Given the description of an element on the screen output the (x, y) to click on. 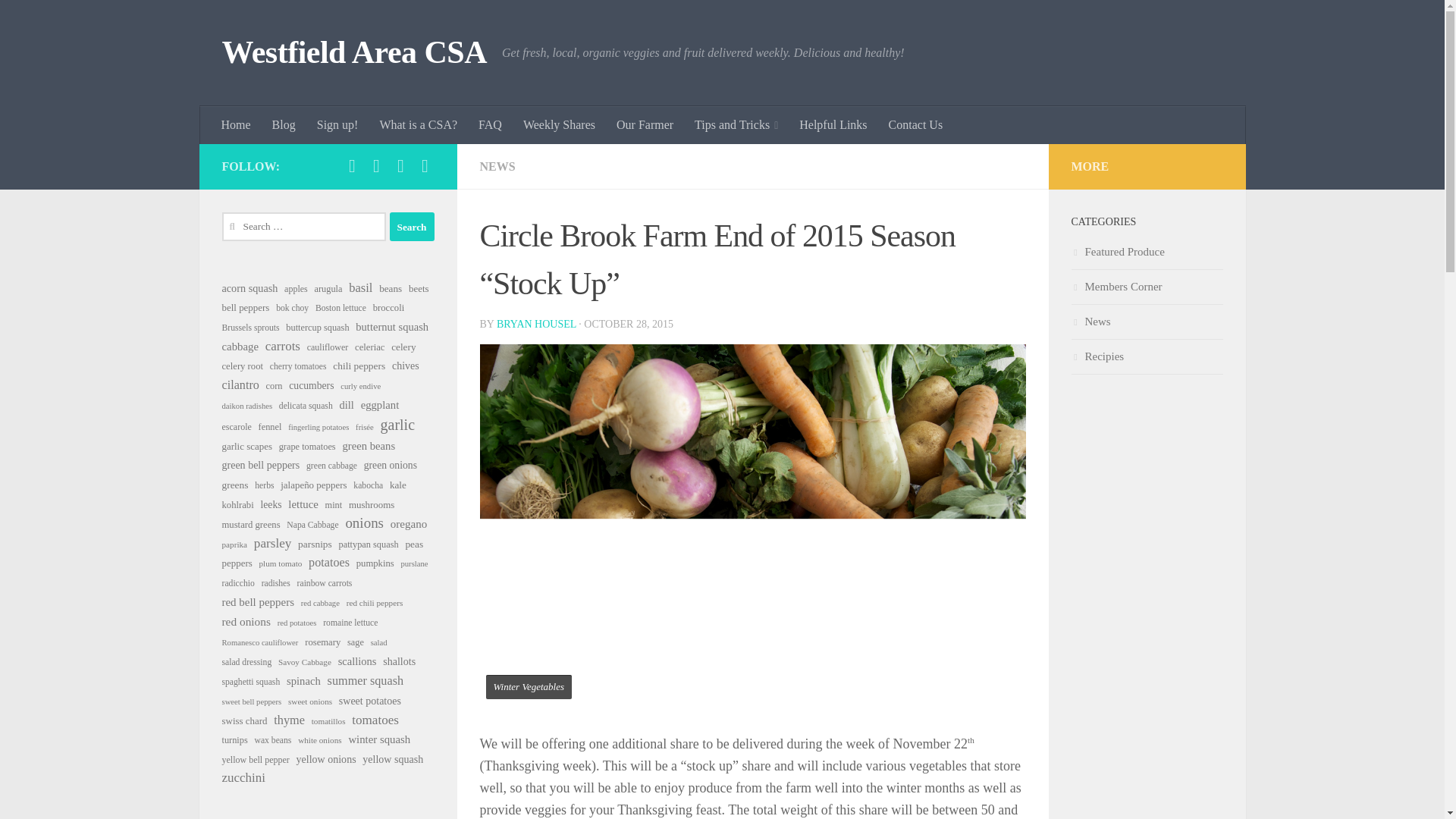
Weekly Shares (558, 125)
Search (411, 226)
Posts by Bryan Housel (536, 324)
Skip to content (59, 20)
FAQ (489, 125)
Westfield Area CSA (353, 53)
Sign up! (337, 125)
Instagram (400, 166)
Helpful Links (833, 125)
Facebook (351, 166)
